Given the description of an element on the screen output the (x, y) to click on. 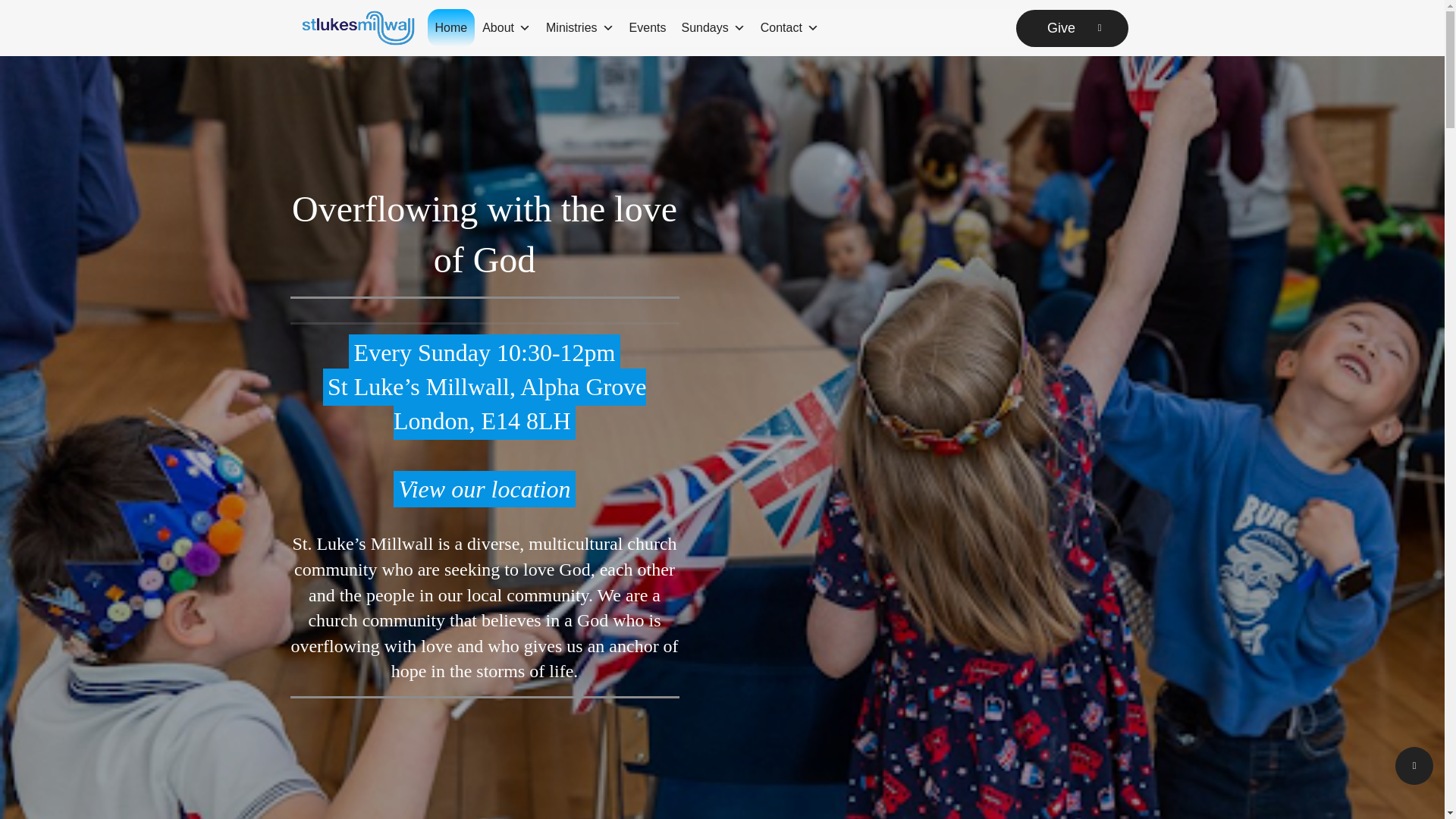
View our location (484, 488)
Give (1072, 27)
St Lukes Millwall Church (478, 764)
Contact (789, 27)
About (506, 27)
Sundays (712, 27)
St Luke's Millwall (357, 27)
Ministries (579, 27)
Home (452, 27)
Events (647, 27)
